Given the description of an element on the screen output the (x, y) to click on. 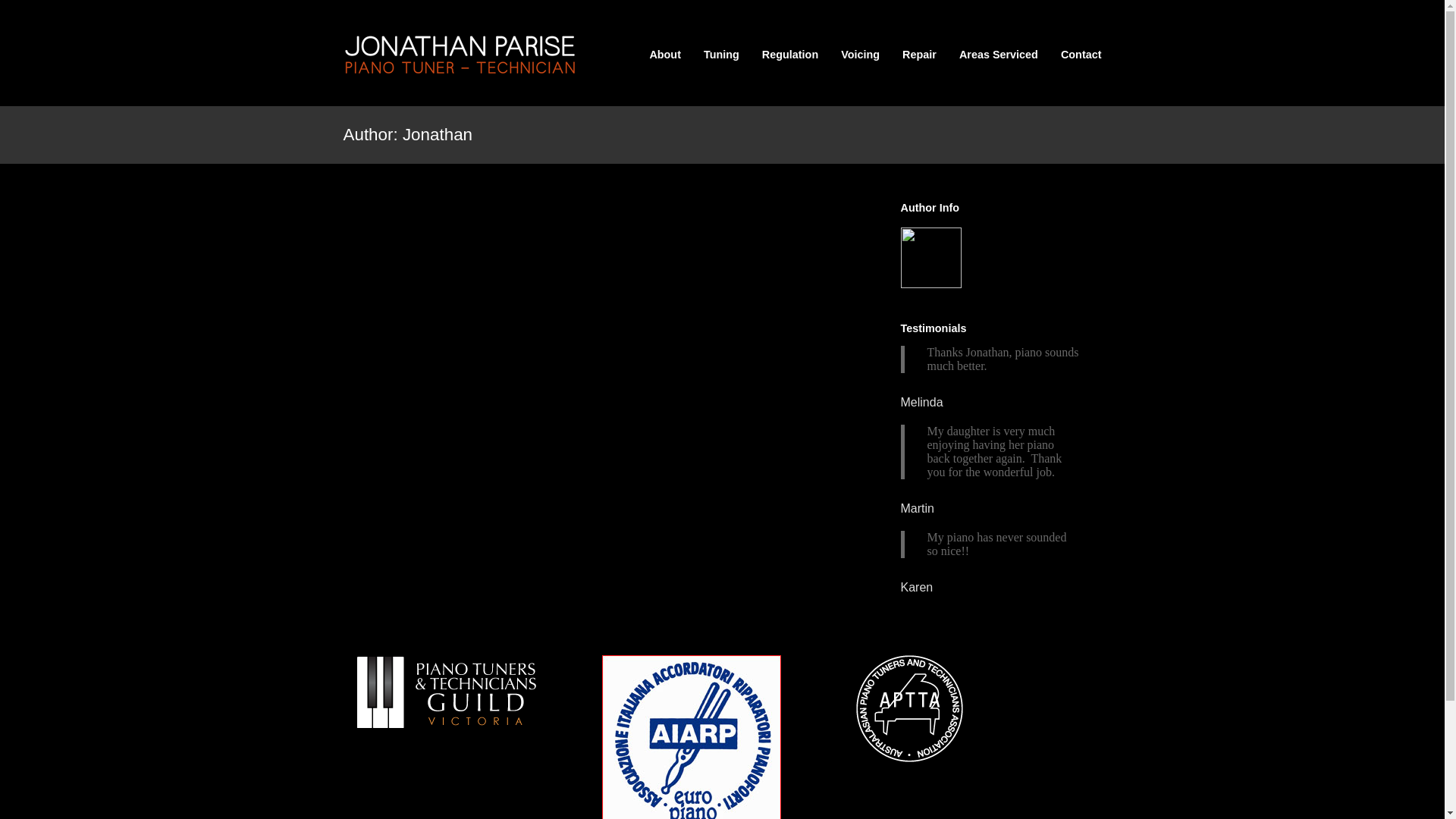
About Element type: text (664, 54)
Repair Element type: text (919, 54)
Voicing Element type: text (859, 54)
Regulation Element type: text (790, 54)
Contact Element type: text (1080, 54)
Areas Serviced Element type: text (998, 54)
Tuning Element type: text (721, 54)
